Given the description of an element on the screen output the (x, y) to click on. 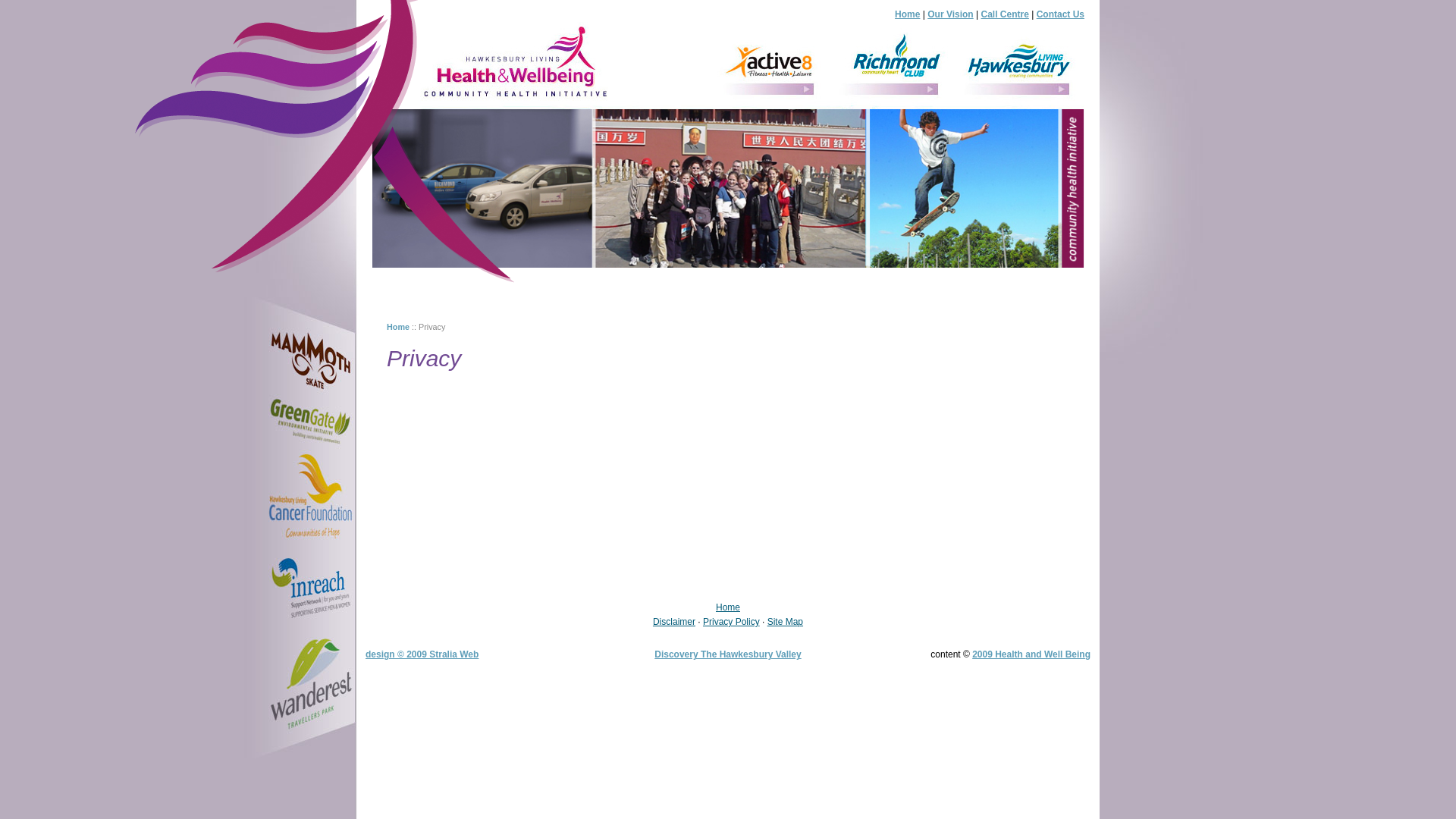
Contact Us Element type: text (1060, 14)
Home Element type: text (727, 607)
Discovery The Hawkesbury Valley Element type: text (727, 654)
Privacy Policy Element type: text (730, 621)
Call Centre Element type: text (1005, 14)
Home Element type: text (906, 14)
Site Map Element type: text (785, 621)
2009 Health and Well Being Element type: text (1031, 654)
Our Vision Element type: text (949, 14)
Disclaimer Element type: text (673, 621)
Home Element type: text (397, 326)
